Given the description of an element on the screen output the (x, y) to click on. 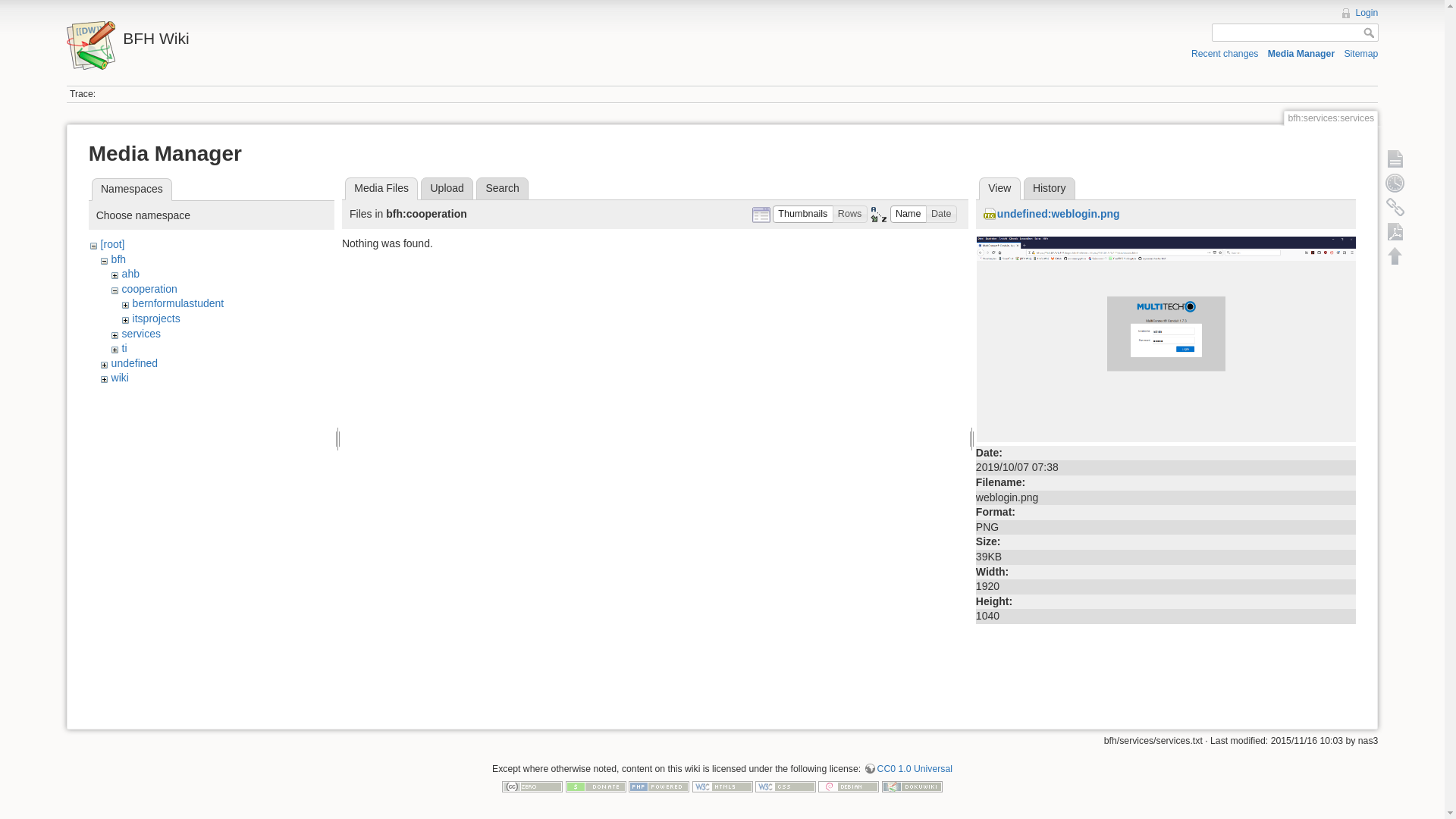
Old revisions [O] Element type: hover (1395, 182)
wiki Element type: text (119, 377)
Donate Element type: hover (595, 786)
bernformulastudent Element type: text (178, 303)
Search Element type: hover (1370, 32)
Valid CSS Element type: hover (785, 786)
bfh Element type: text (118, 259)
History Element type: text (1049, 188)
cooperation Element type: text (149, 288)
ti Element type: text (124, 348)
Export to PDF Element type: hover (1395, 231)
Sitemap Element type: text (1360, 53)
Search Element type: text (1370, 32)
Back to top [T] Element type: hover (1395, 255)
Recent changes Element type: text (1224, 53)
CC0 1.0 Universal Element type: text (907, 768)
undefined:weblogin.png Element type: text (1051, 213)
Media Manager Element type: text (1301, 53)
Login Element type: text (1358, 12)
Driven by DokuWiki Element type: hover (911, 786)
[root] Element type: text (112, 244)
Valid HTML5 Element type: hover (721, 786)
undefined Element type: text (134, 363)
Run on Debian Element type: hover (848, 786)
Powered by PHP Element type: hover (658, 786)
BFH Wiki Element type: text (387, 34)
services Element type: text (141, 333)
Backlinks Element type: hover (1395, 206)
itsprojects Element type: text (156, 318)
Show page [V] Element type: hover (1395, 158)
Upload Element type: text (446, 188)
View original file Element type: hover (1165, 338)
ahb Element type: text (130, 273)
[F] Element type: hover (1295, 32)
Search Element type: text (502, 188)
